Given the description of an element on the screen output the (x, y) to click on. 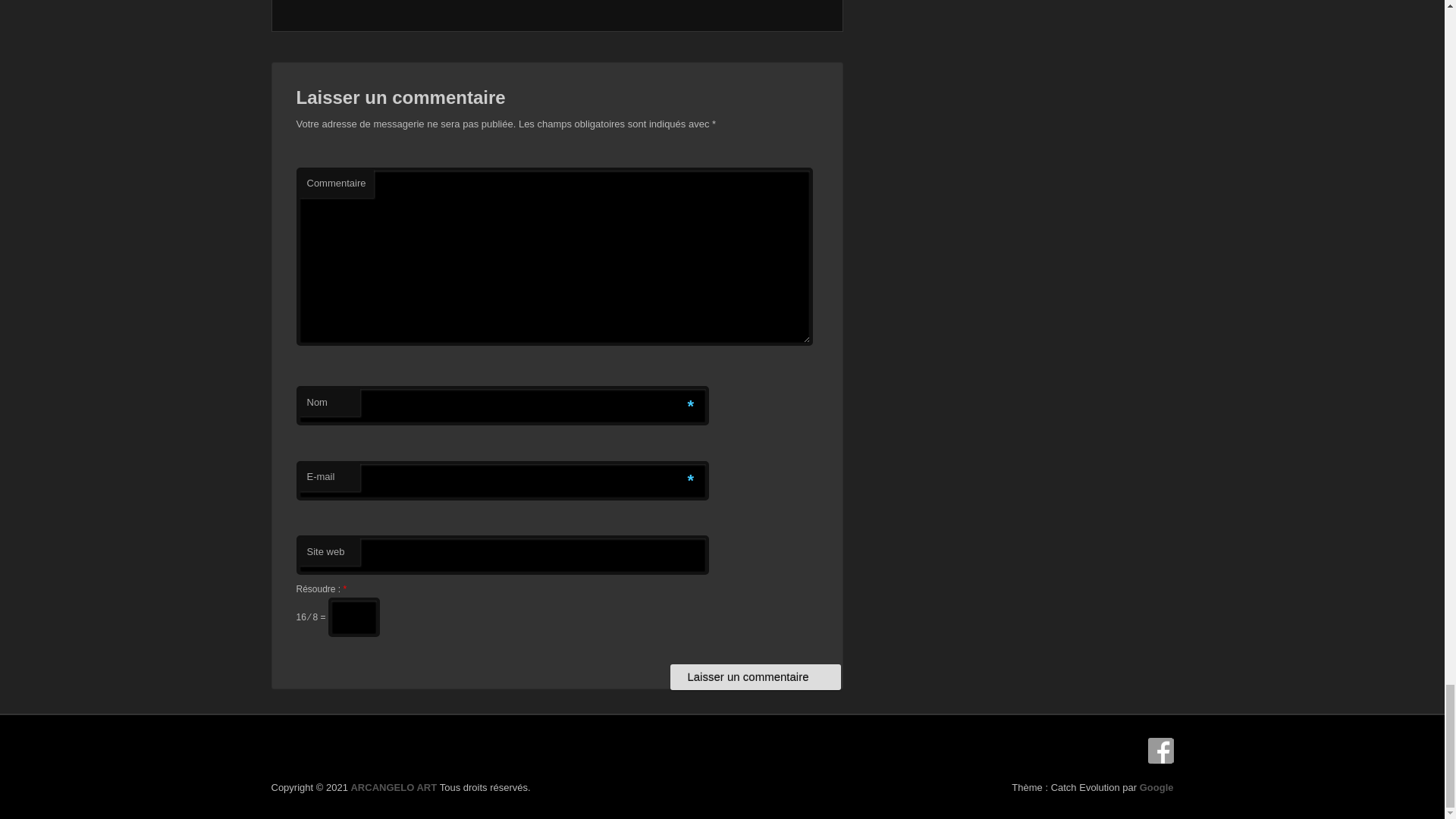
Lost A Stone In 2 Weeks (1156, 787)
Laisser un commentaire (754, 677)
ARCANGELO ART (394, 787)
Lost A Stone In 2 Weeks (1160, 750)
Facebook (1160, 750)
Google (1156, 787)
Lost A Stone In 2 Weeks (394, 787)
Laisser un commentaire (754, 677)
